Given the description of an element on the screen output the (x, y) to click on. 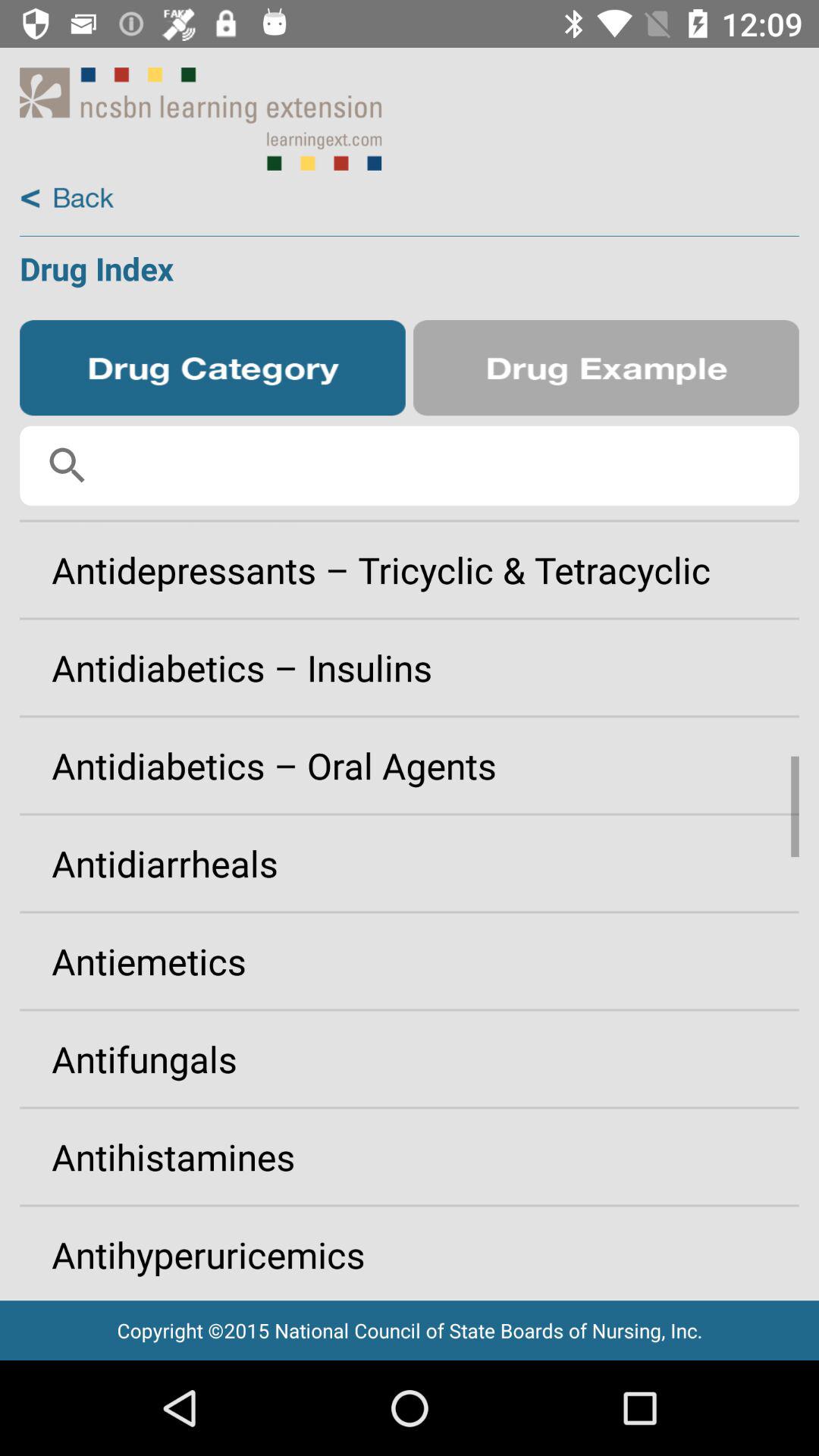
shows examples of drugs (606, 367)
